Given the description of an element on the screen output the (x, y) to click on. 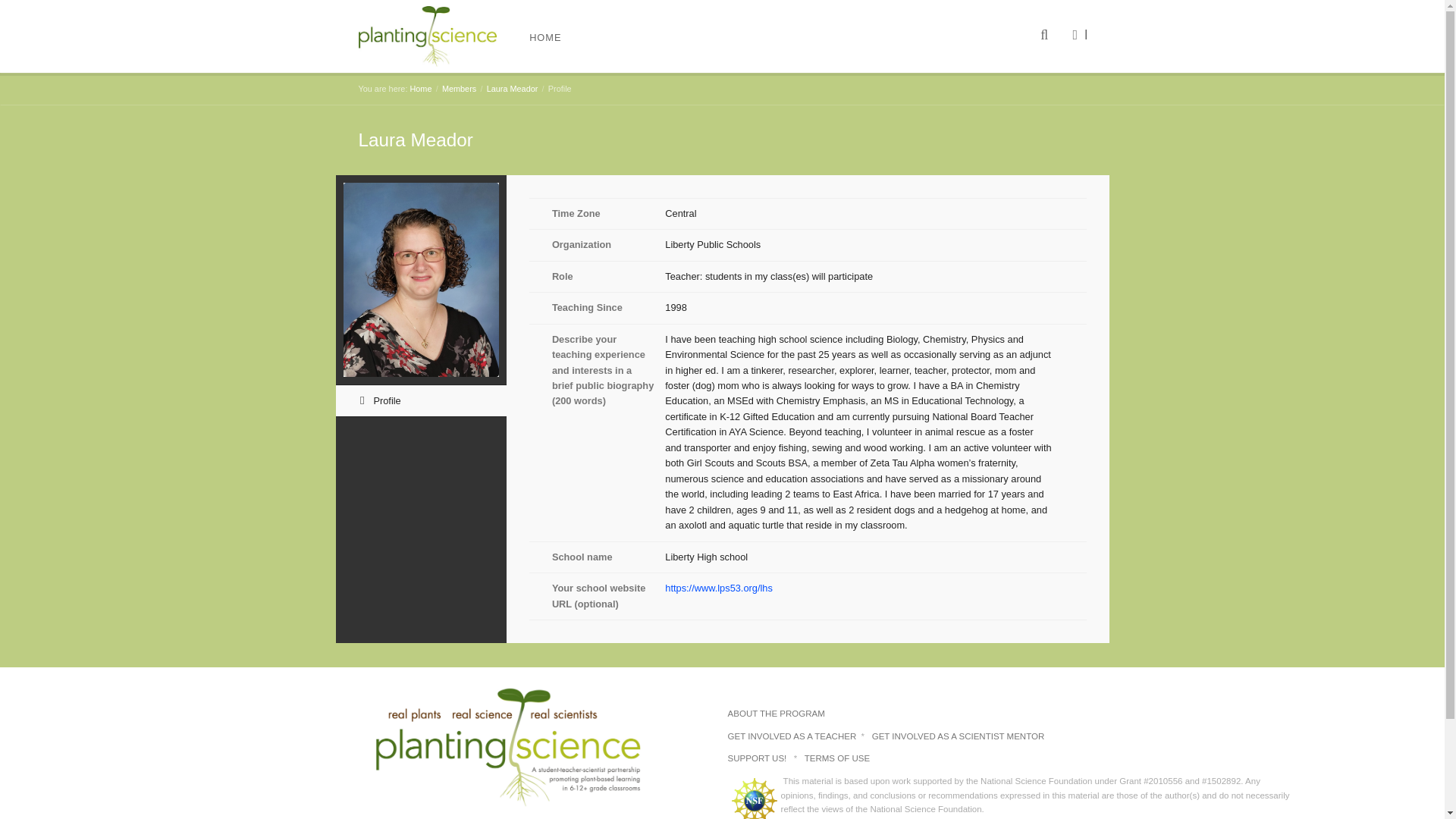
Laura Meador's Profile (419, 400)
ABOUT THE PROGRAM (776, 713)
Profile (419, 400)
SUPPORT US! (757, 757)
GET INVOLVED AS A TEACHER  (793, 736)
Home (419, 89)
HOME (544, 37)
Members (459, 89)
TERMS OF USE (837, 757)
GET INVOLVED AS A SCIENTIST MENTOR (958, 736)
